Given the description of an element on the screen output the (x, y) to click on. 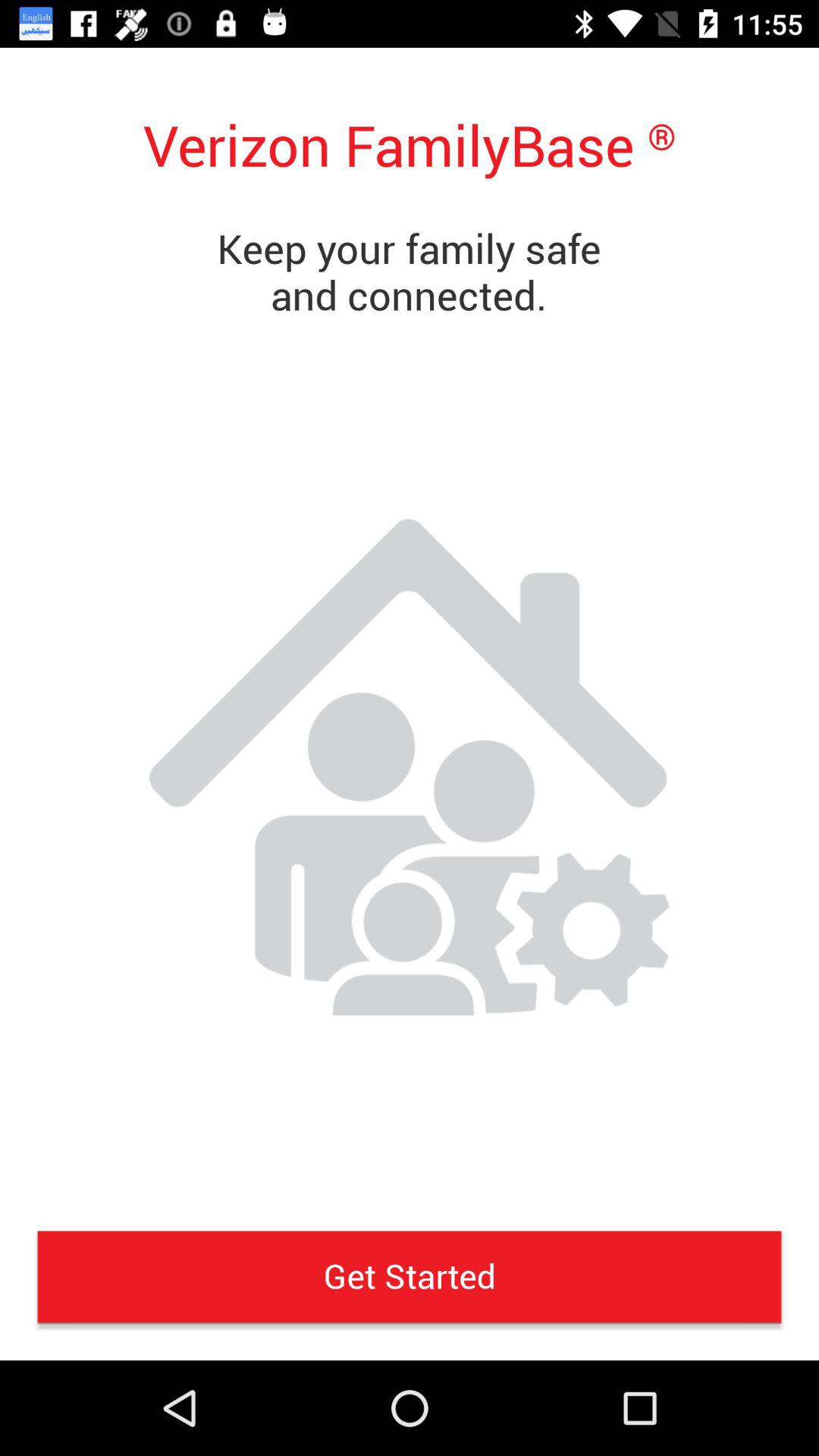
launch the get started item (409, 1276)
